Given the description of an element on the screen output the (x, y) to click on. 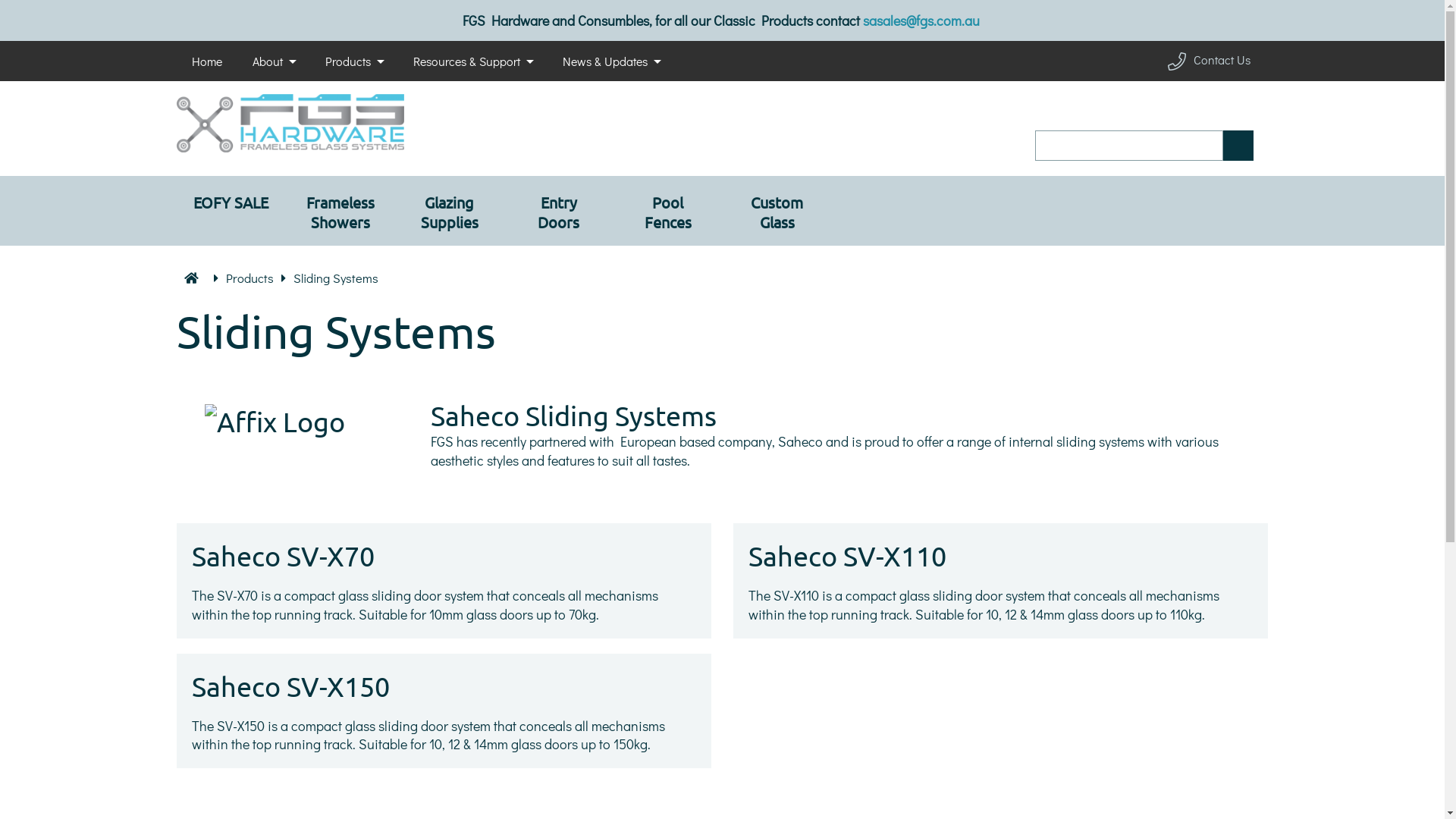
sasales@fgs.com.au  Element type: text (922, 20)
Products Element type: text (353, 60)
Search Element type: text (1237, 145)
EOFY SALE Element type: text (230, 210)
Custom Glass Element type: text (776, 210)
Resources & Support Element type: text (471, 60)
Saheco SV-X150 Element type: text (290, 685)
News & Updates Element type: text (610, 60)
Glazing Supplies Element type: text (448, 210)
About Element type: text (272, 60)
Frameless Showers Element type: text (339, 210)
Pool Fences Element type: text (666, 210)
Entry Doors Element type: text (557, 210)
Saheco SV-X110 Element type: text (847, 555)
Home Element type: text (205, 60)
Saheco SV-X70 Element type: text (282, 555)
  Contact Us  Element type: text (1210, 60)
Sliding Systems Element type: text (334, 277)
Products Element type: text (249, 277)
Return to the home page Element type: hover (289, 147)
